Given the description of an element on the screen output the (x, y) to click on. 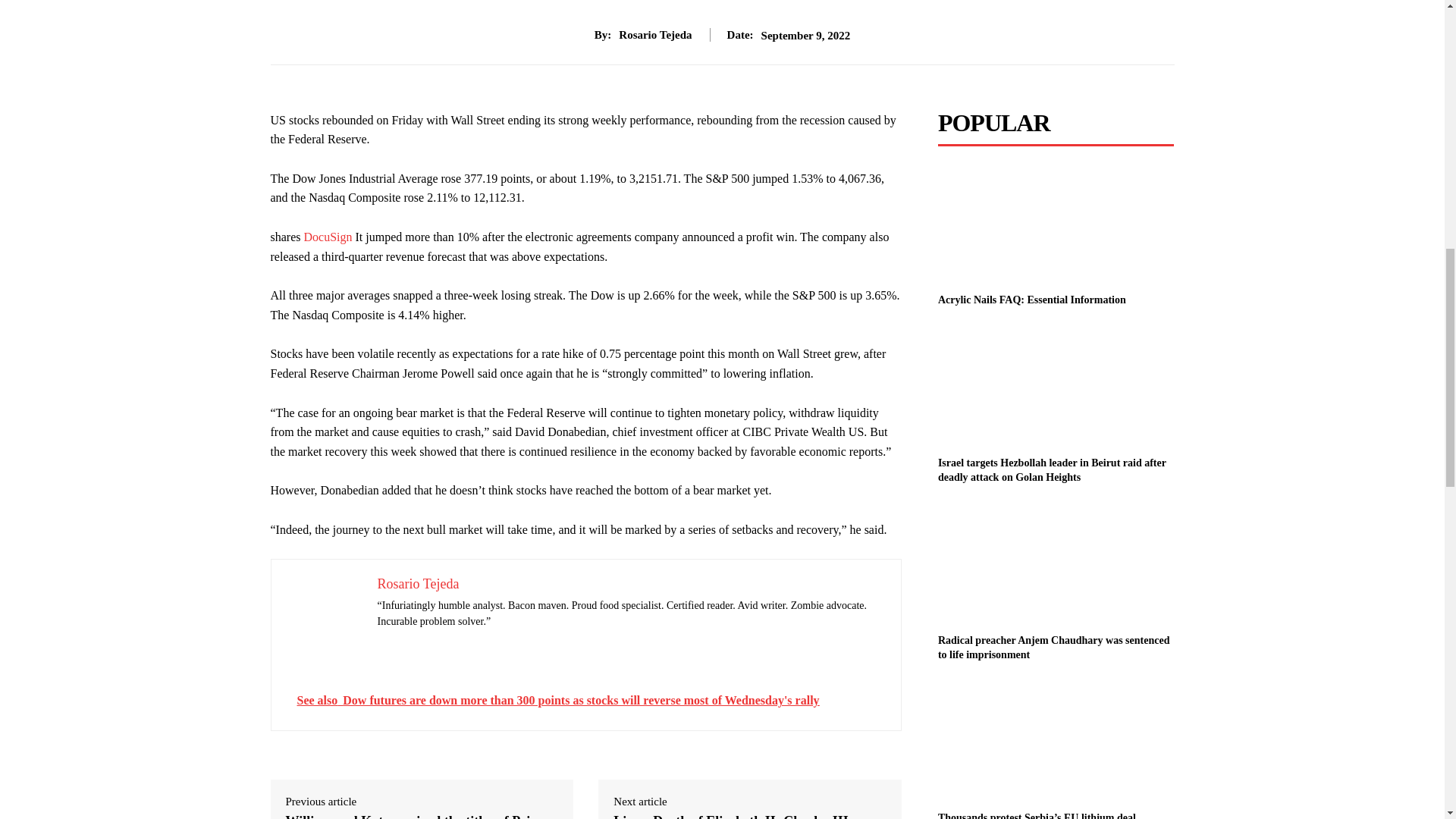
Acrylic Nails FAQ: Essential Information (1031, 299)
Acrylic Nails FAQ: Essential Information (1055, 224)
